Given the description of an element on the screen output the (x, y) to click on. 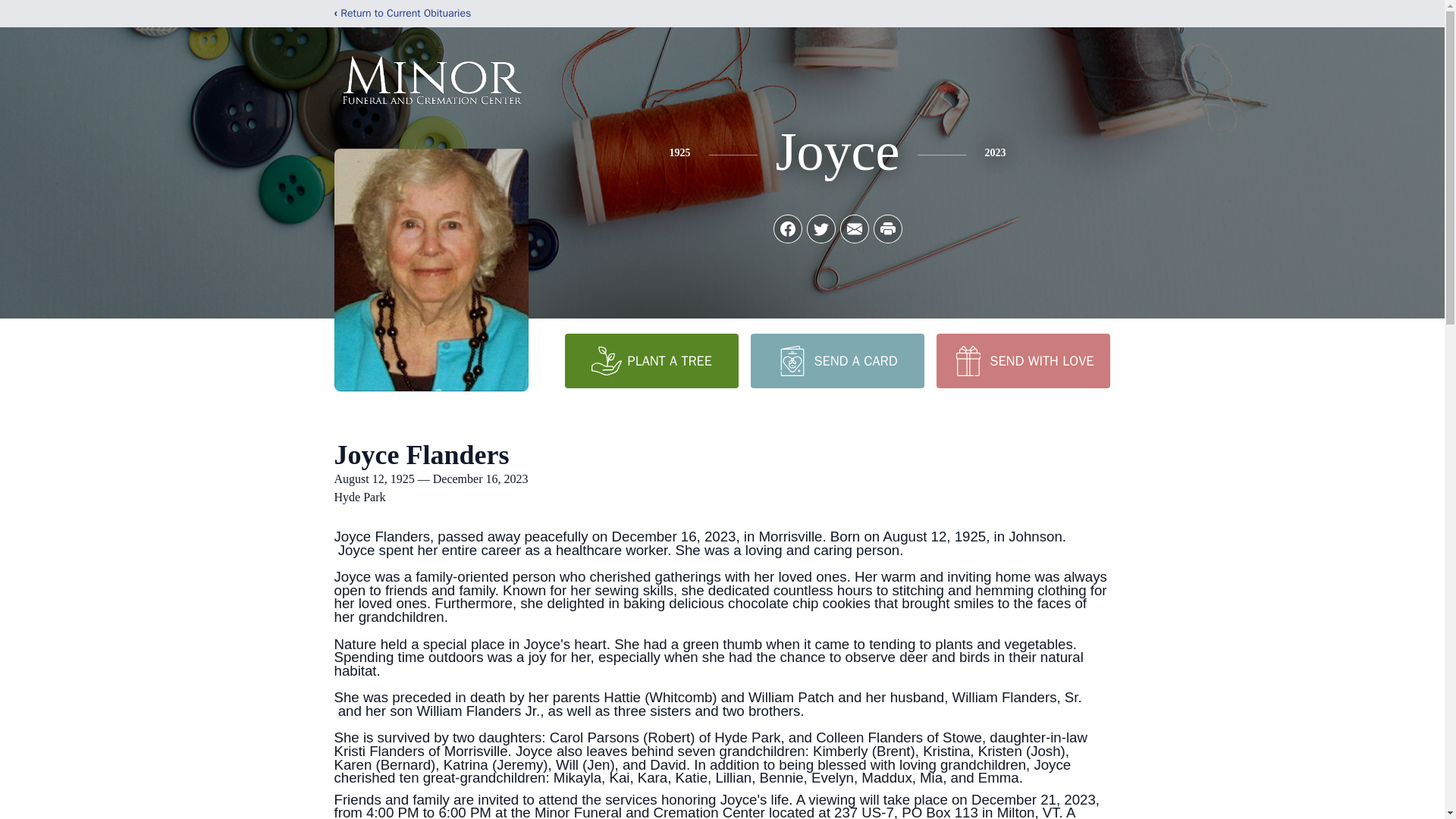
SEND A CARD (837, 360)
SEND WITH LOVE (1022, 360)
PLANT A TREE (651, 360)
